Given the description of an element on the screen output the (x, y) to click on. 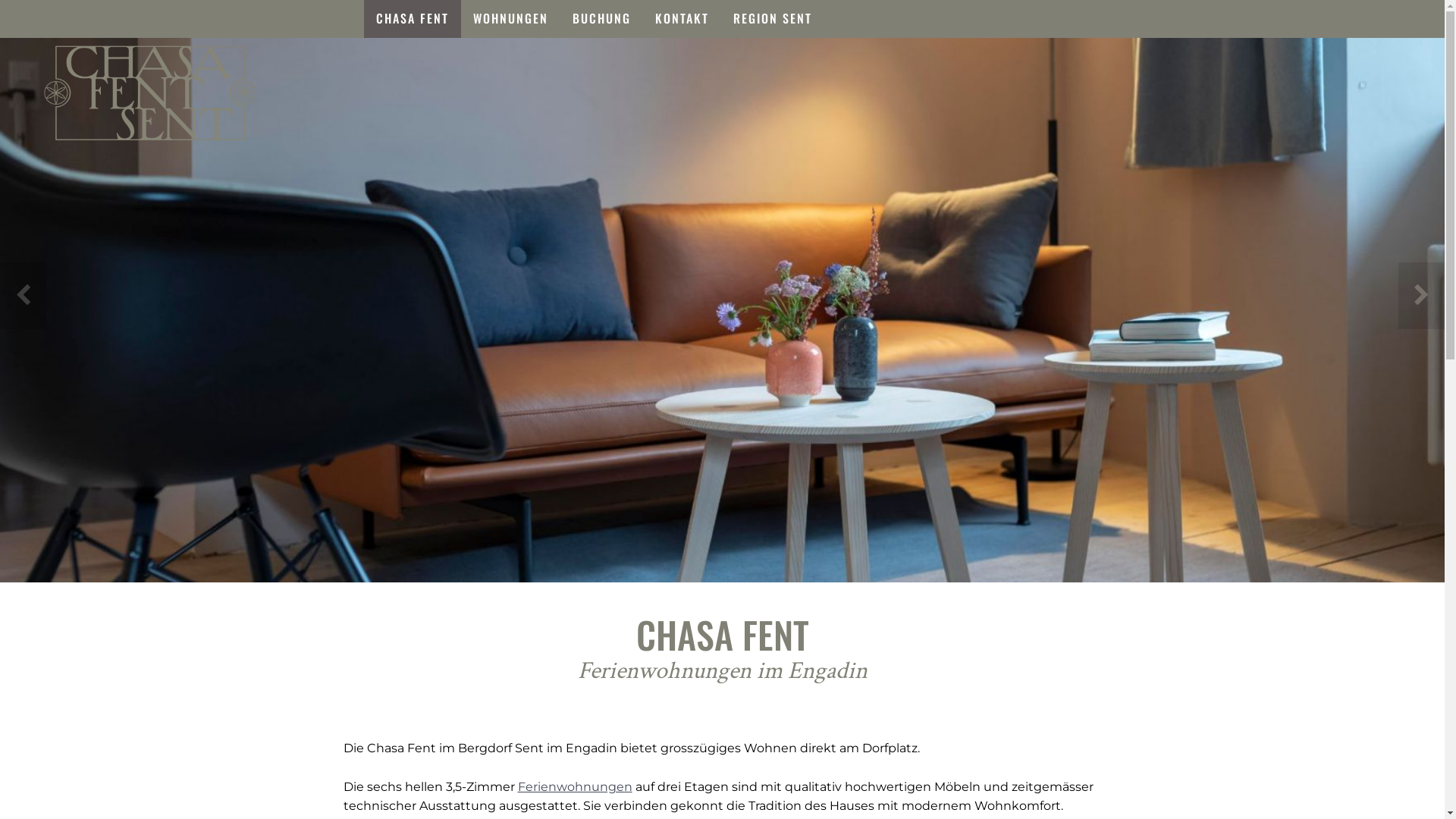
Chasa Fent Element type: hover (149, 92)
CHASA FENT Element type: text (412, 18)
REGION SENT Element type: text (772, 18)
BUCHUNG Element type: text (601, 18)
WOHNUNGEN Element type: text (510, 18)
Ferienwohnungen Element type: text (574, 786)
KONTAKT Element type: text (682, 18)
